Given the description of an element on the screen output the (x, y) to click on. 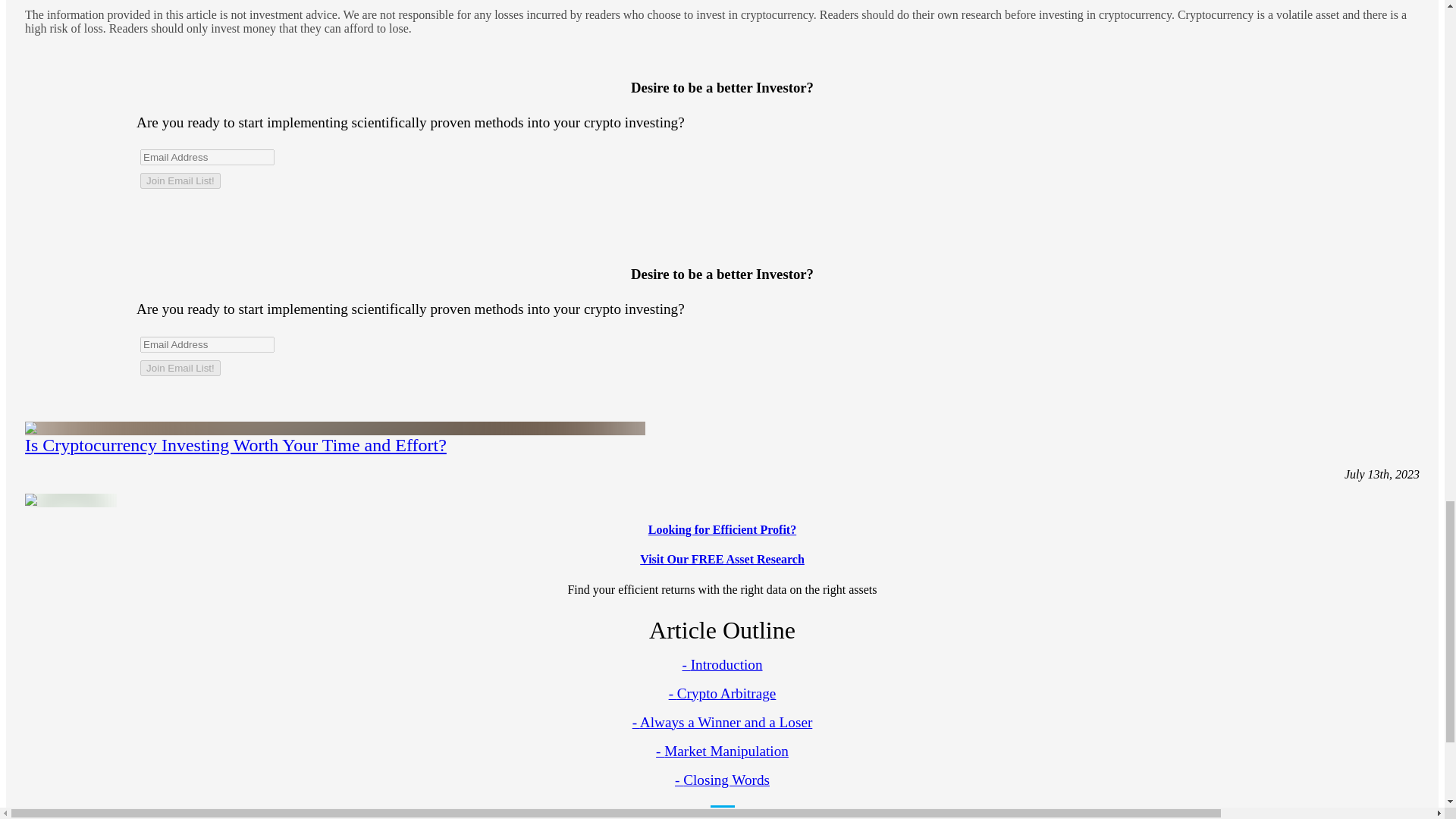
Is Cryptocurrency Investing Worth Your Time and Effort? (235, 444)
Join Email List! (180, 367)
Join Email List! (721, 544)
